Given the description of an element on the screen output the (x, y) to click on. 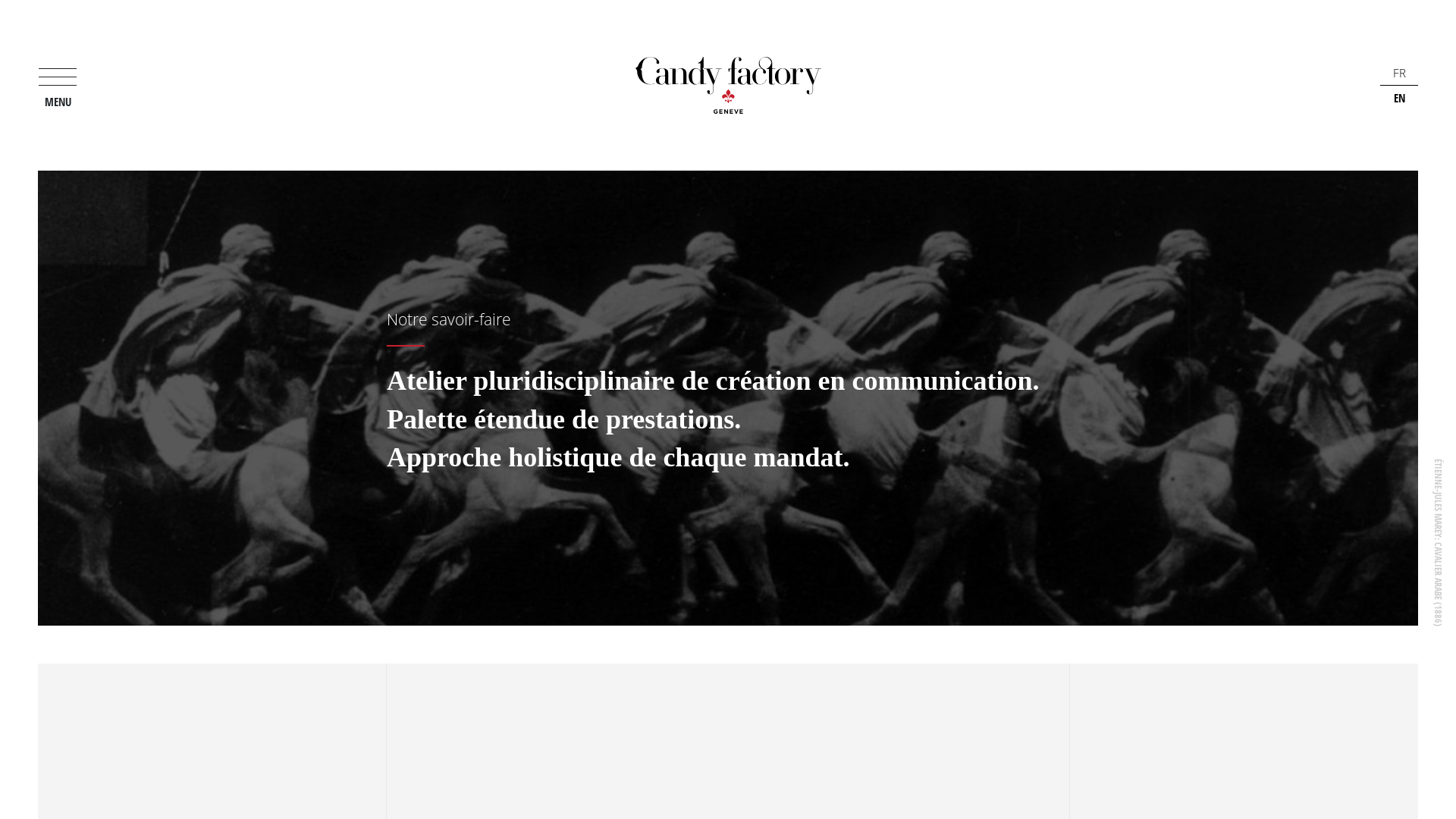
Submit Element type: text (727, 604)
MENU Element type: text (57, 85)
EN Element type: text (1398, 97)
FR Element type: text (1399, 72)
